Given the description of an element on the screen output the (x, y) to click on. 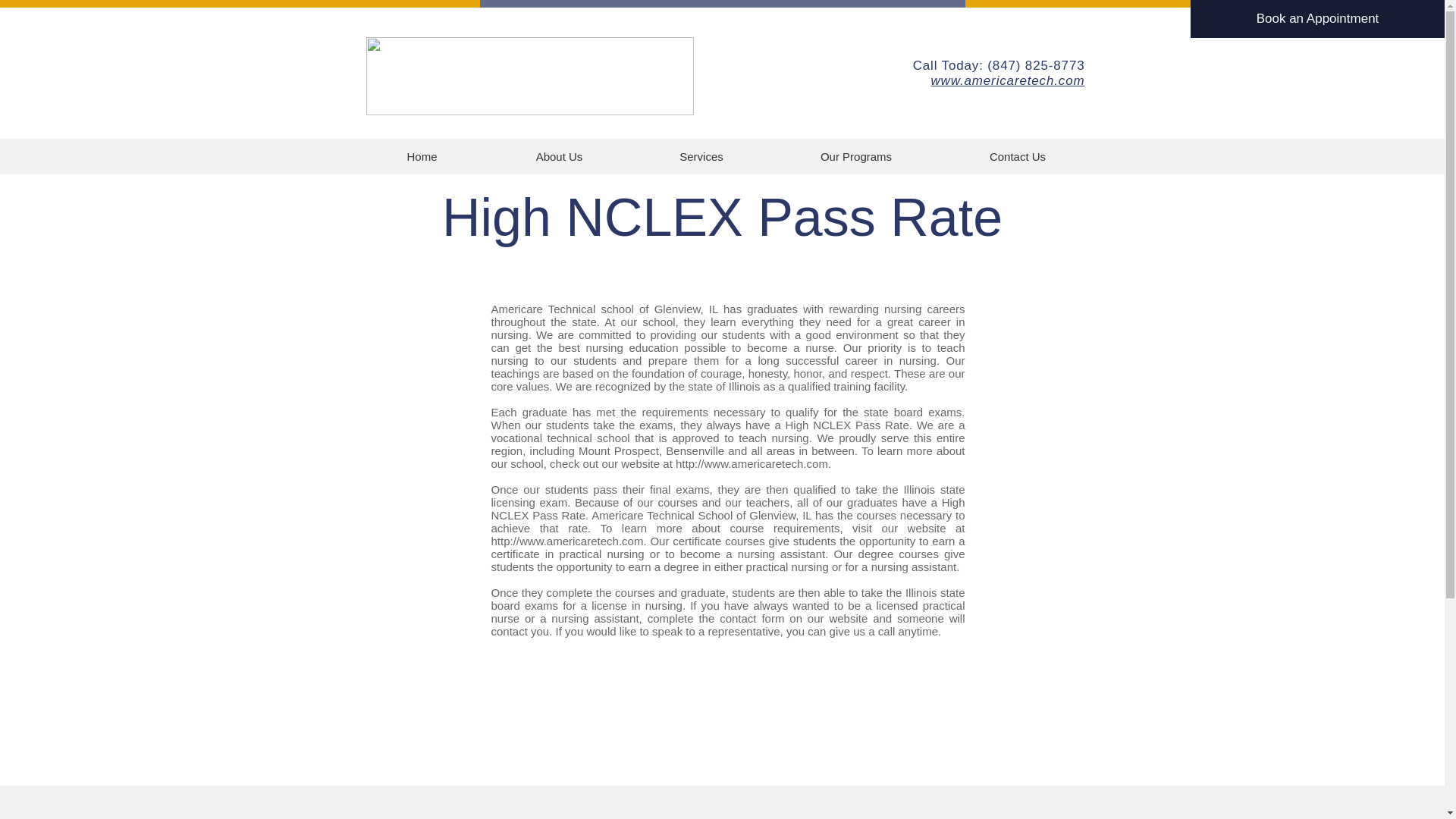
About Us (558, 156)
Our Programs (855, 156)
Contact Us (1018, 156)
Home (422, 156)
Services (701, 156)
www.americaretech.com (1007, 80)
